Given the description of an element on the screen output the (x, y) to click on. 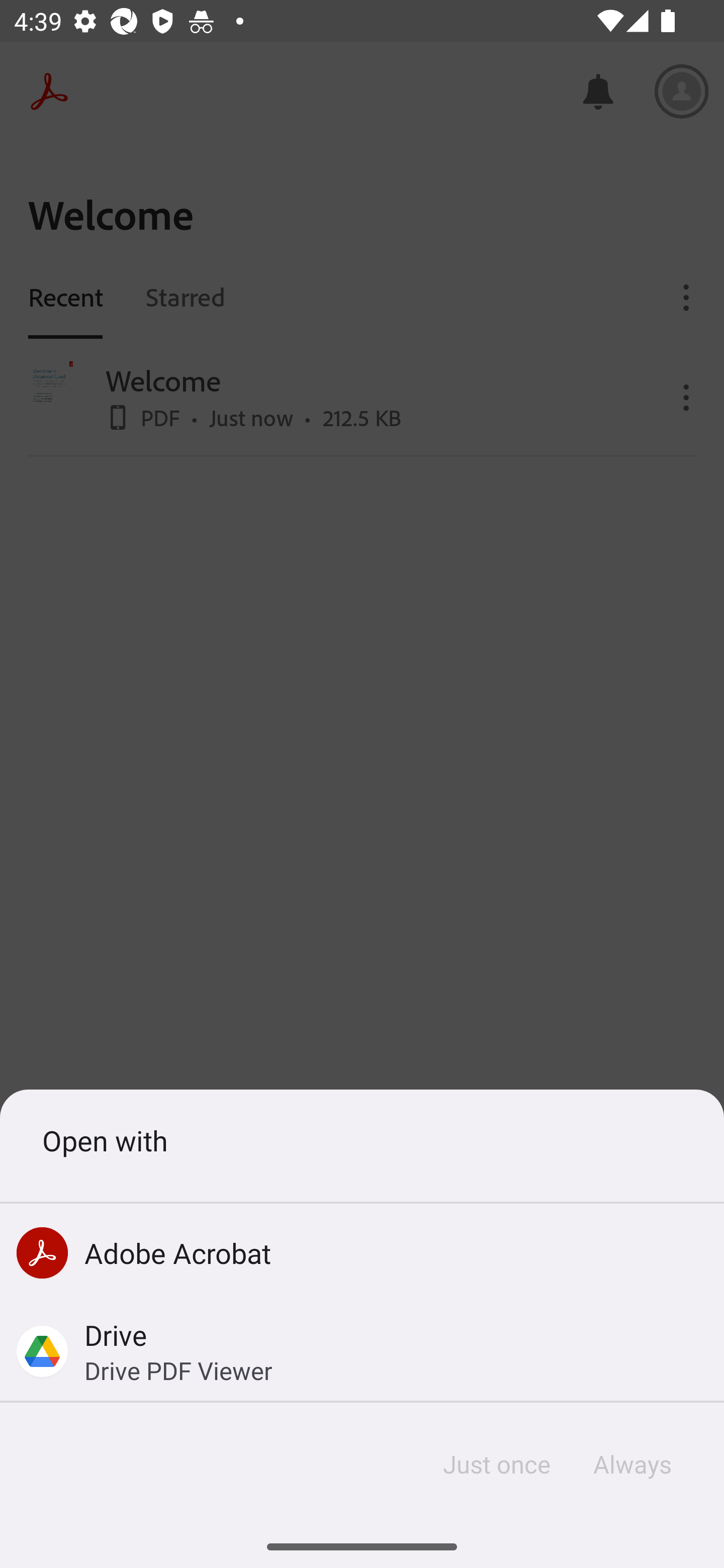
Adobe Acrobat (362, 1252)
Drive Drive PDF Viewer (362, 1350)
Just once (496, 1464)
Always (631, 1464)
